Given the description of an element on the screen output the (x, y) to click on. 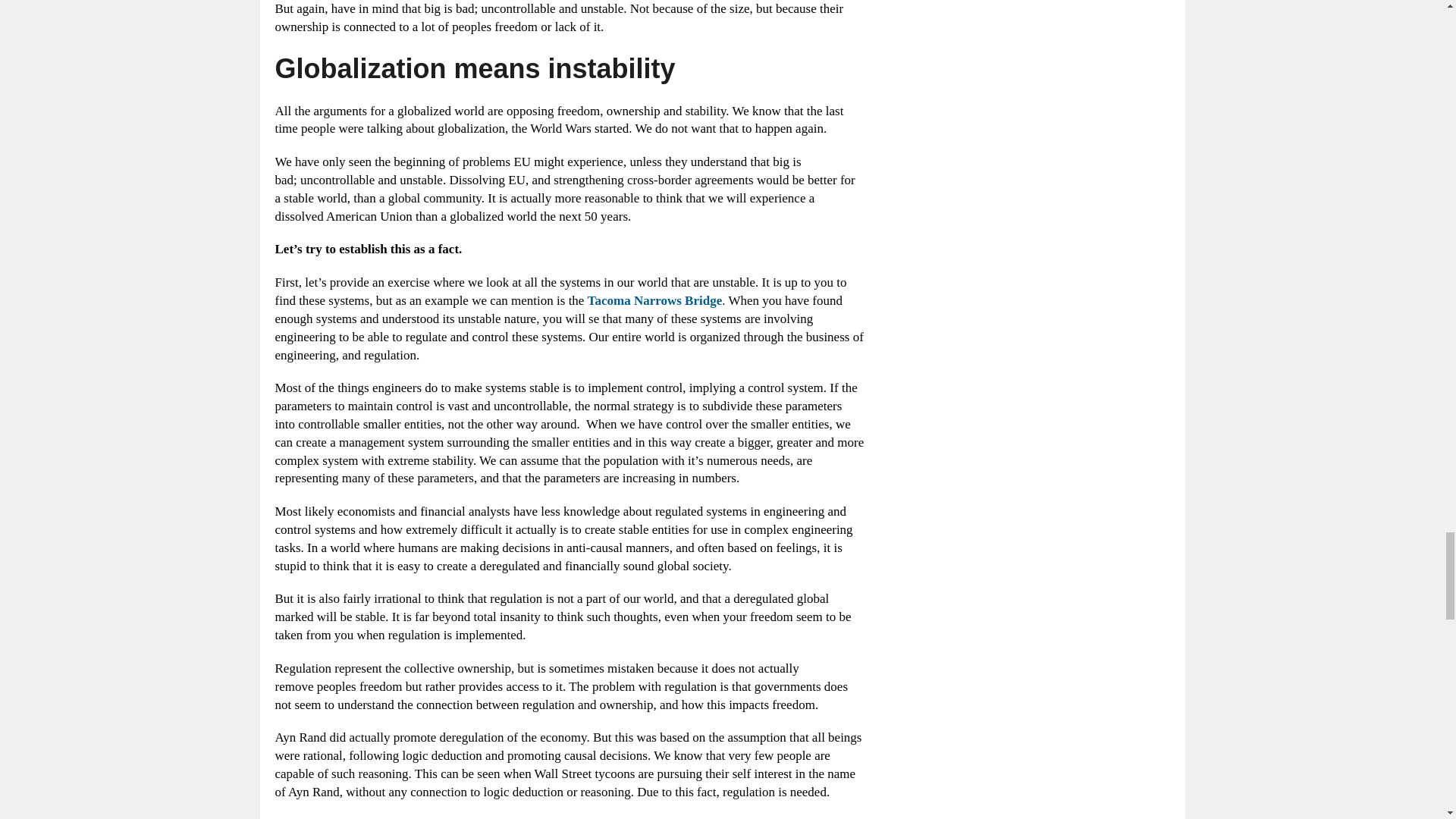
Tacoma Narrows Bridge (655, 300)
